Given the description of an element on the screen output the (x, y) to click on. 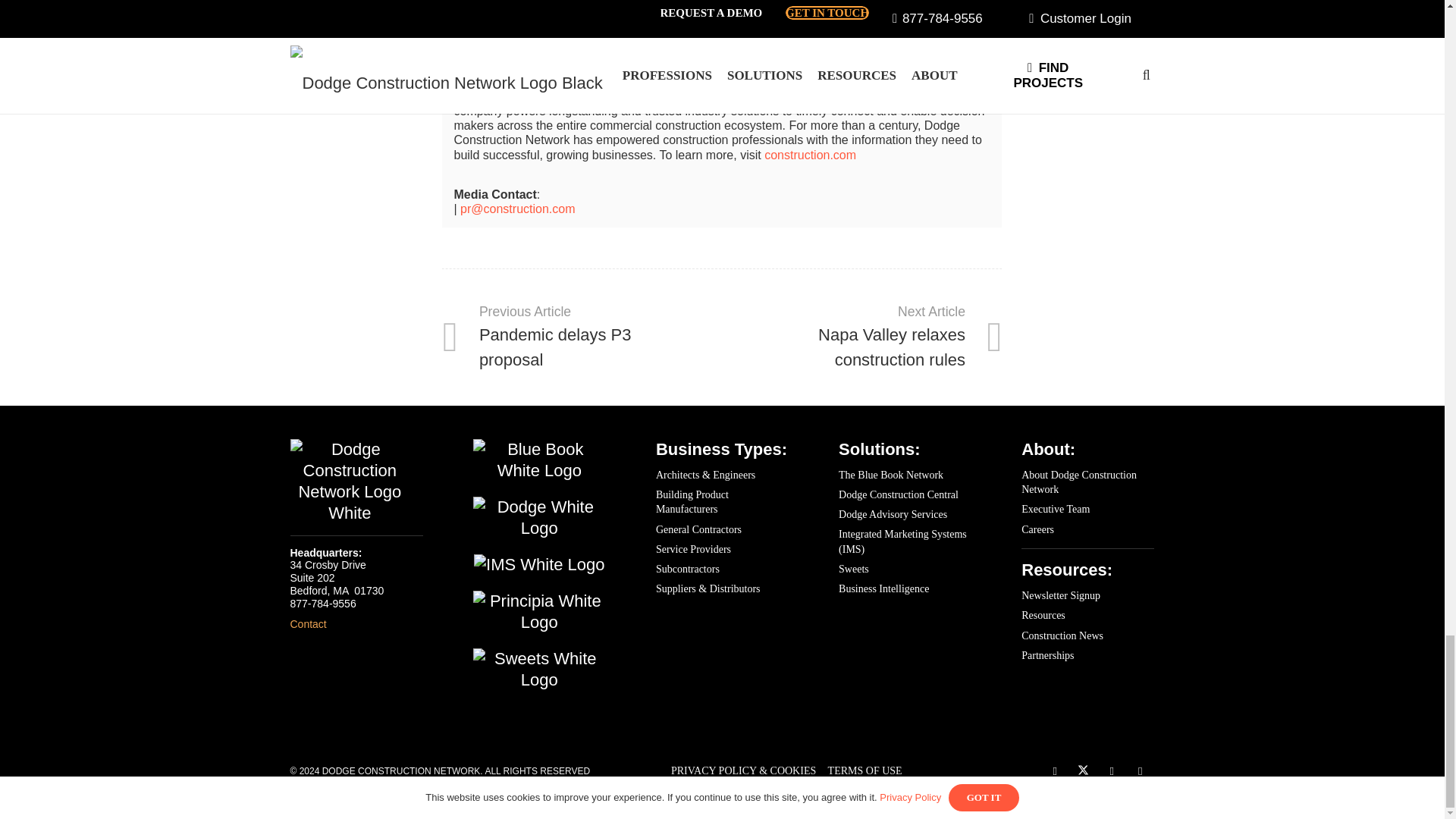
Sweets (539, 669)
Facebook (1054, 771)
Dodge Construction Network (349, 481)
Pandemic delays P3 proposal (582, 336)
IMS (539, 564)
YouTube (1139, 771)
Twitter (1082, 771)
LinkedIn (1111, 771)
Principia (539, 611)
The Blue Book Network (539, 459)
Napa Valley relaxes construction rules (861, 336)
